Given the description of an element on the screen output the (x, y) to click on. 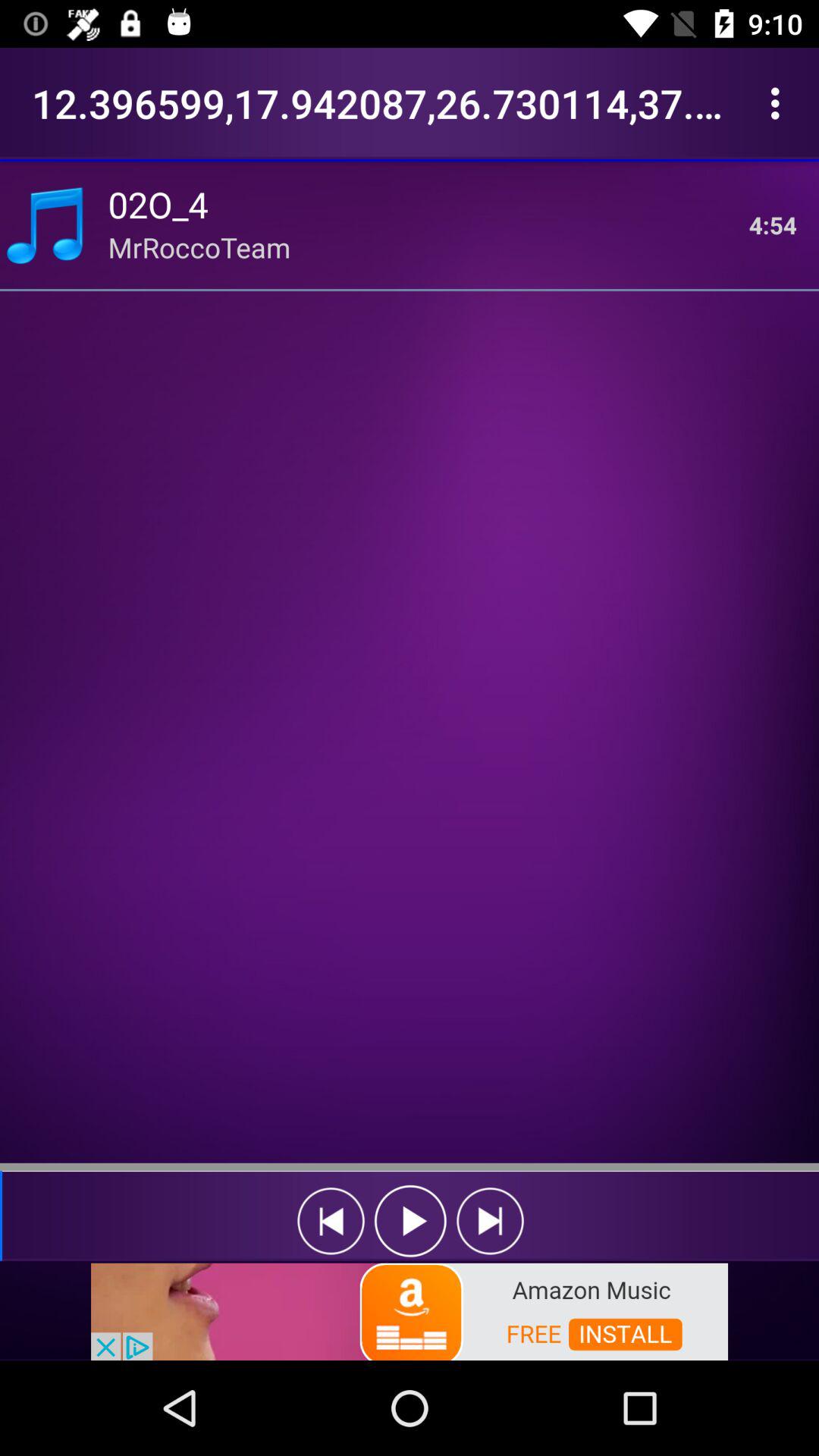
skip ahead (490, 1220)
